Given the description of an element on the screen output the (x, y) to click on. 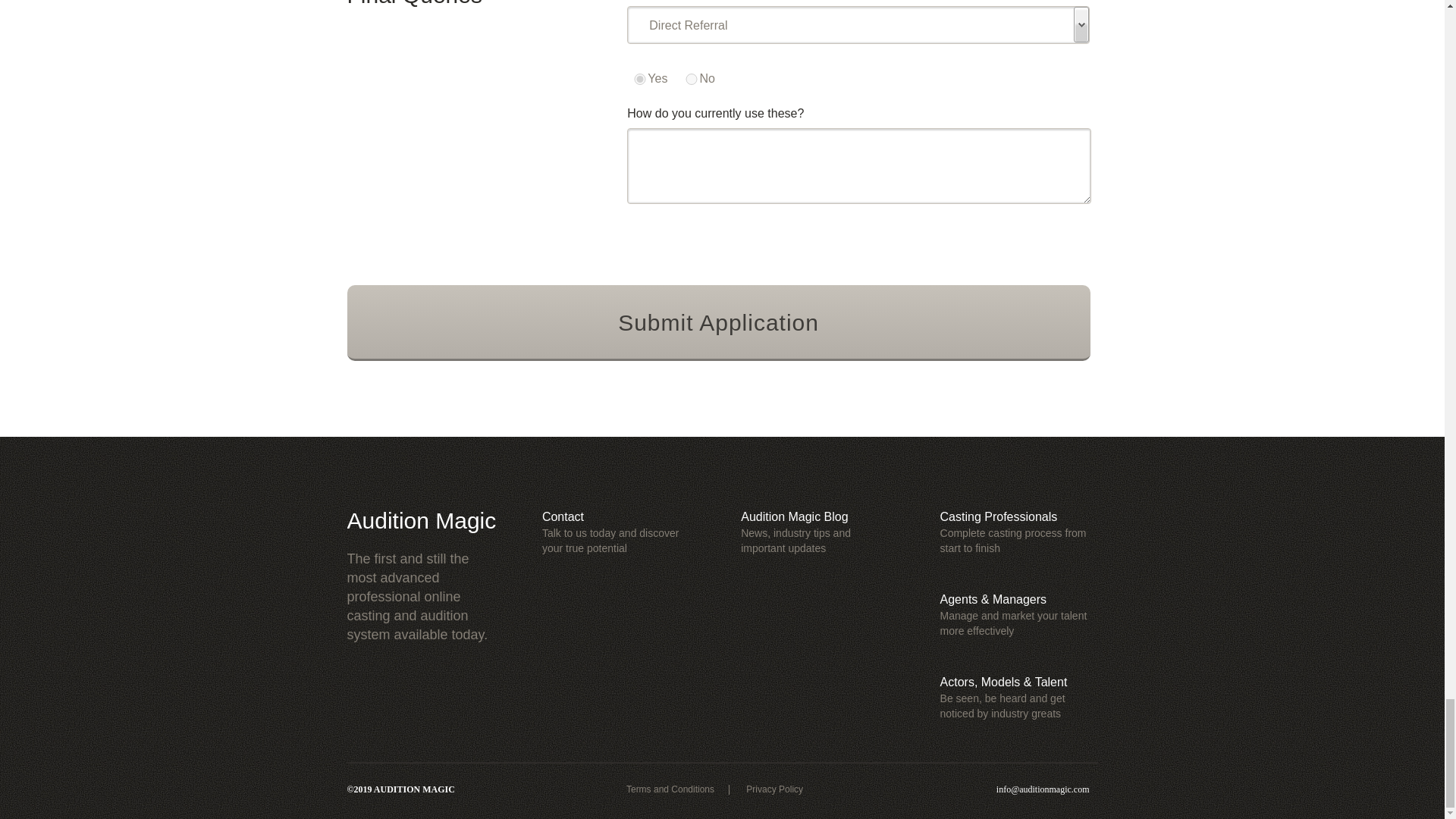
Submit Application (718, 323)
Privacy Policy (774, 788)
Audition Magic Blog (794, 516)
Contact (562, 516)
Casting Professionals (999, 516)
Terms and Conditions (670, 788)
